Given the description of an element on the screen output the (x, y) to click on. 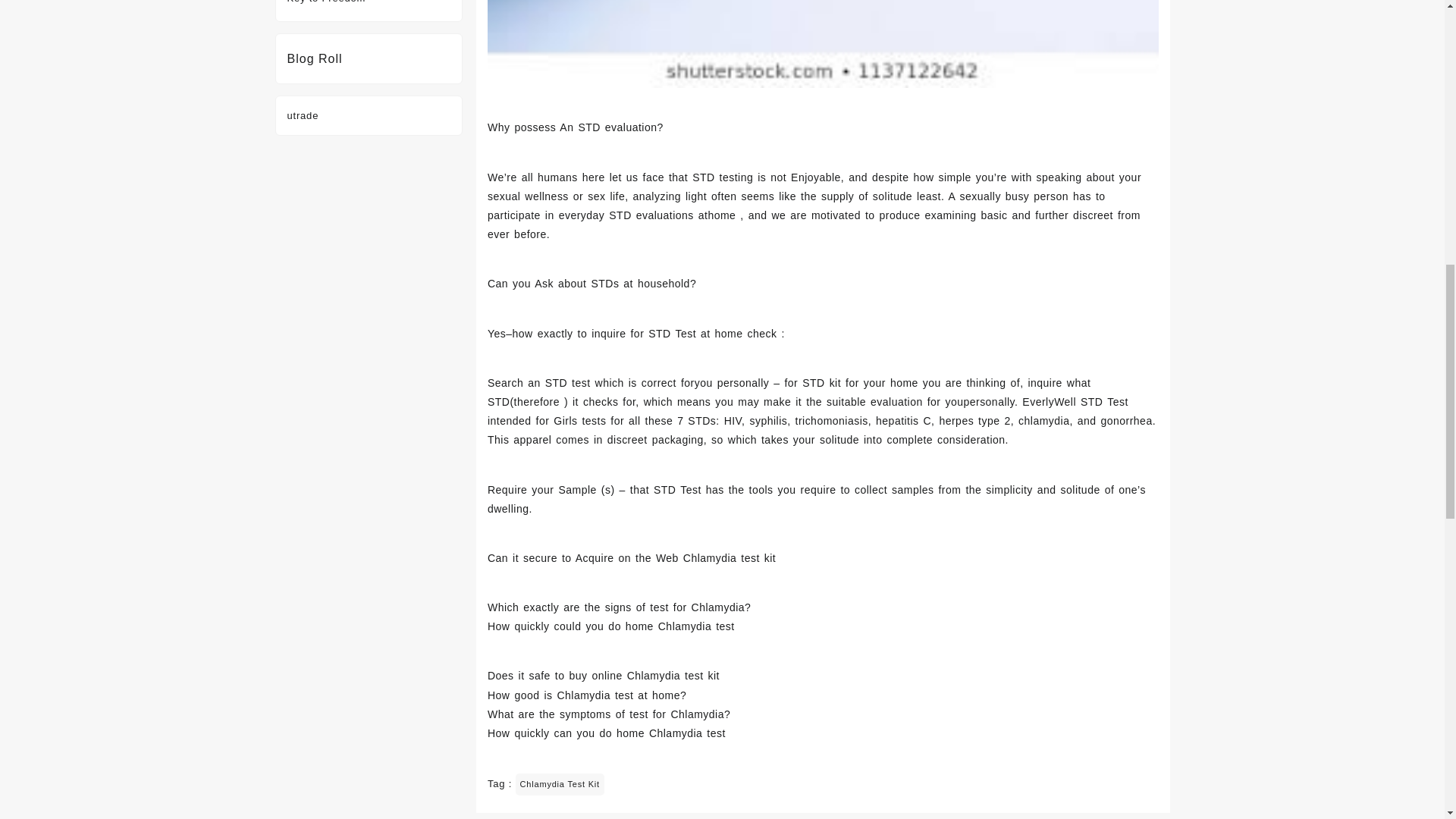
utrade (302, 115)
Chlamydia Test Kit (559, 784)
Harris County Bail Bonds: Your Key to Freedom (362, 2)
